Given the description of an element on the screen output the (x, y) to click on. 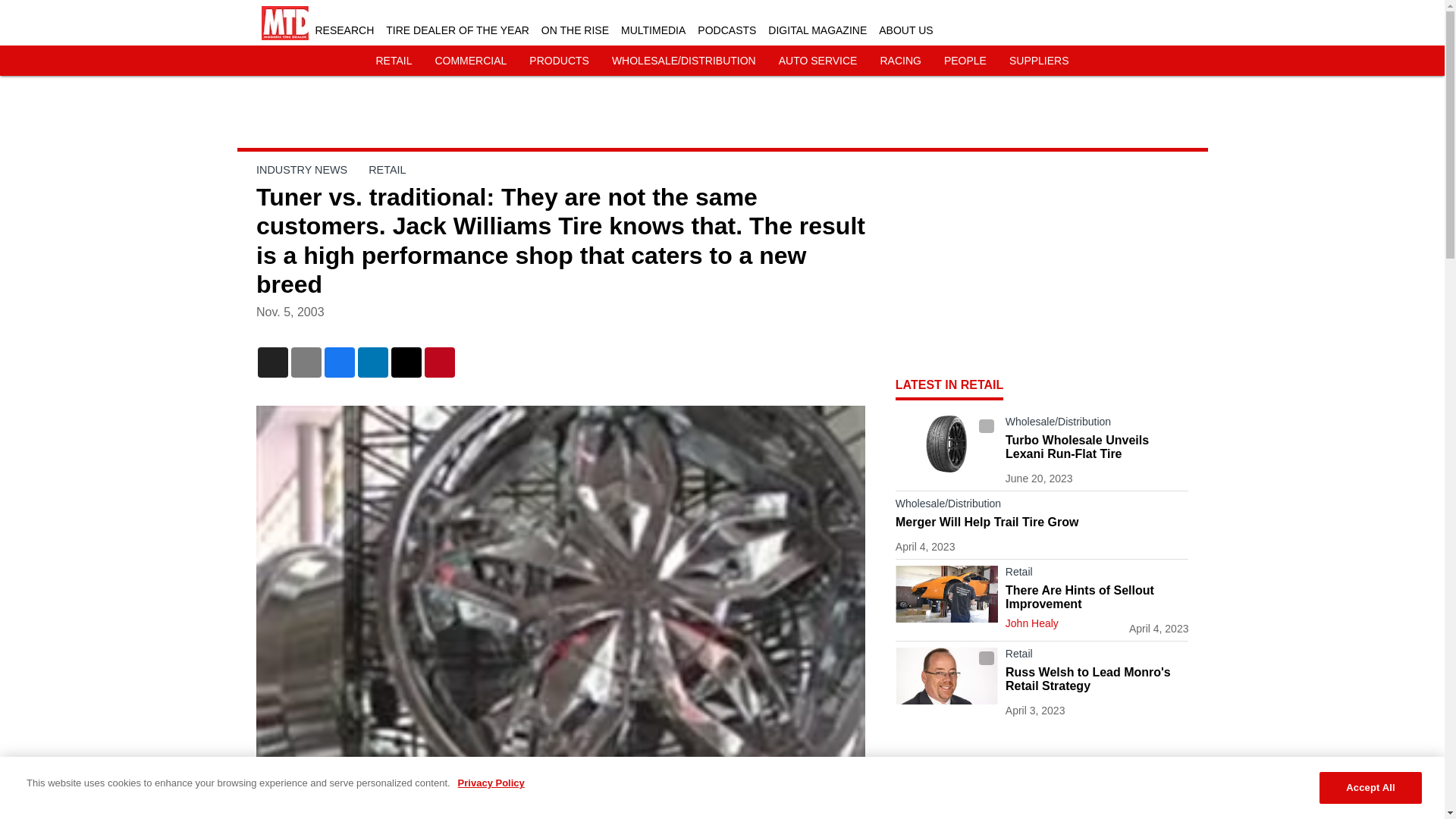
RETAIL (393, 60)
ABOUT US (906, 30)
Turbo Wholesale Unveils Lexani Run-Flat Tire (1097, 447)
INDUSTRY NEWS (301, 169)
RETAIL (387, 169)
AUTO SERVICE (817, 60)
John Healy (1032, 623)
PRODUCTS (559, 60)
RESEARCH (344, 30)
COMMERCIAL (469, 60)
MULTIMEDIA (653, 30)
ON THE RISE (574, 30)
TIRE DEALER OF THE YEAR (457, 30)
DIGITAL MAGAZINE (817, 30)
